Given the description of an element on the screen output the (x, y) to click on. 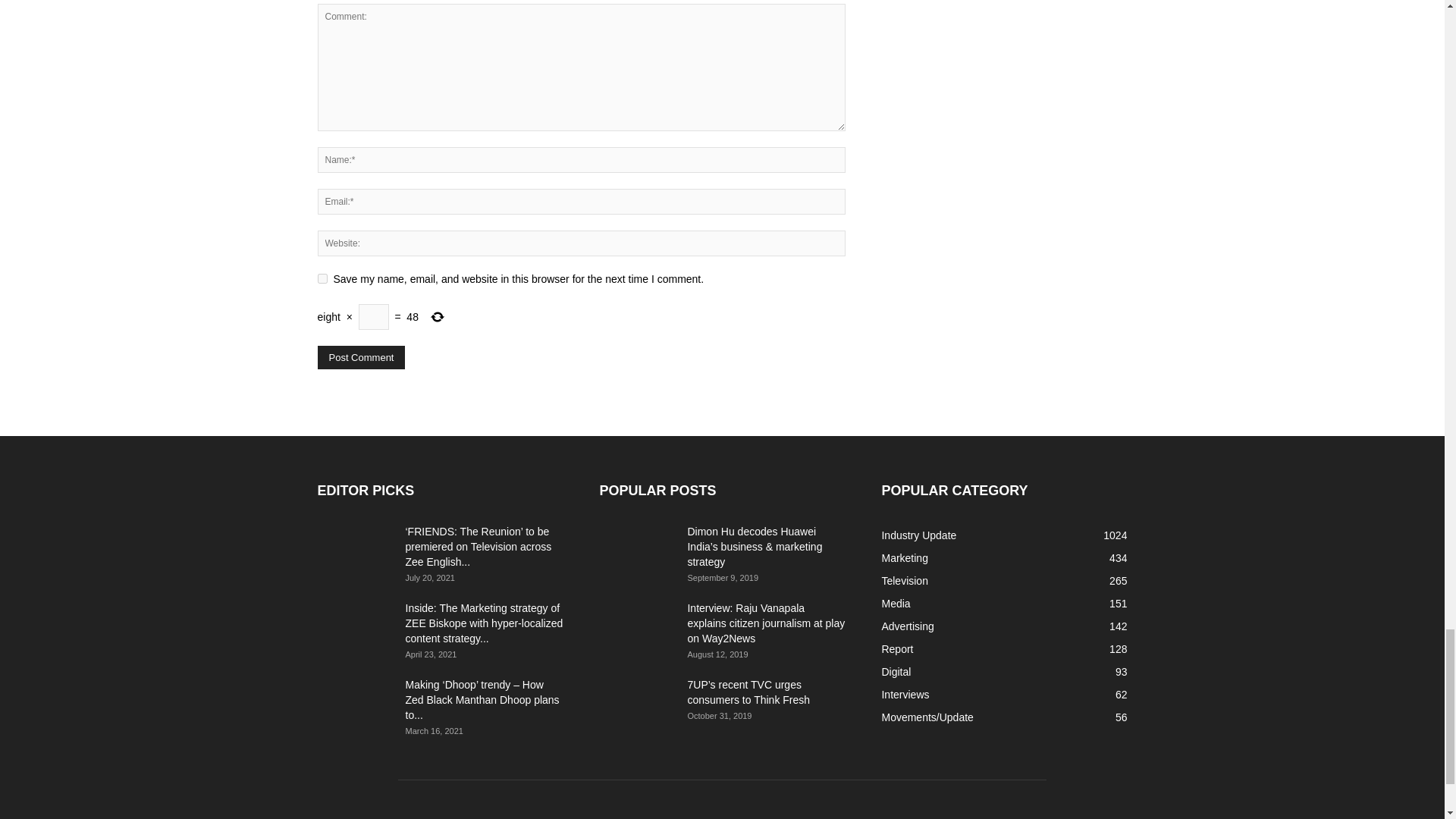
Post Comment (360, 357)
yes (321, 278)
